Given the description of an element on the screen output the (x, y) to click on. 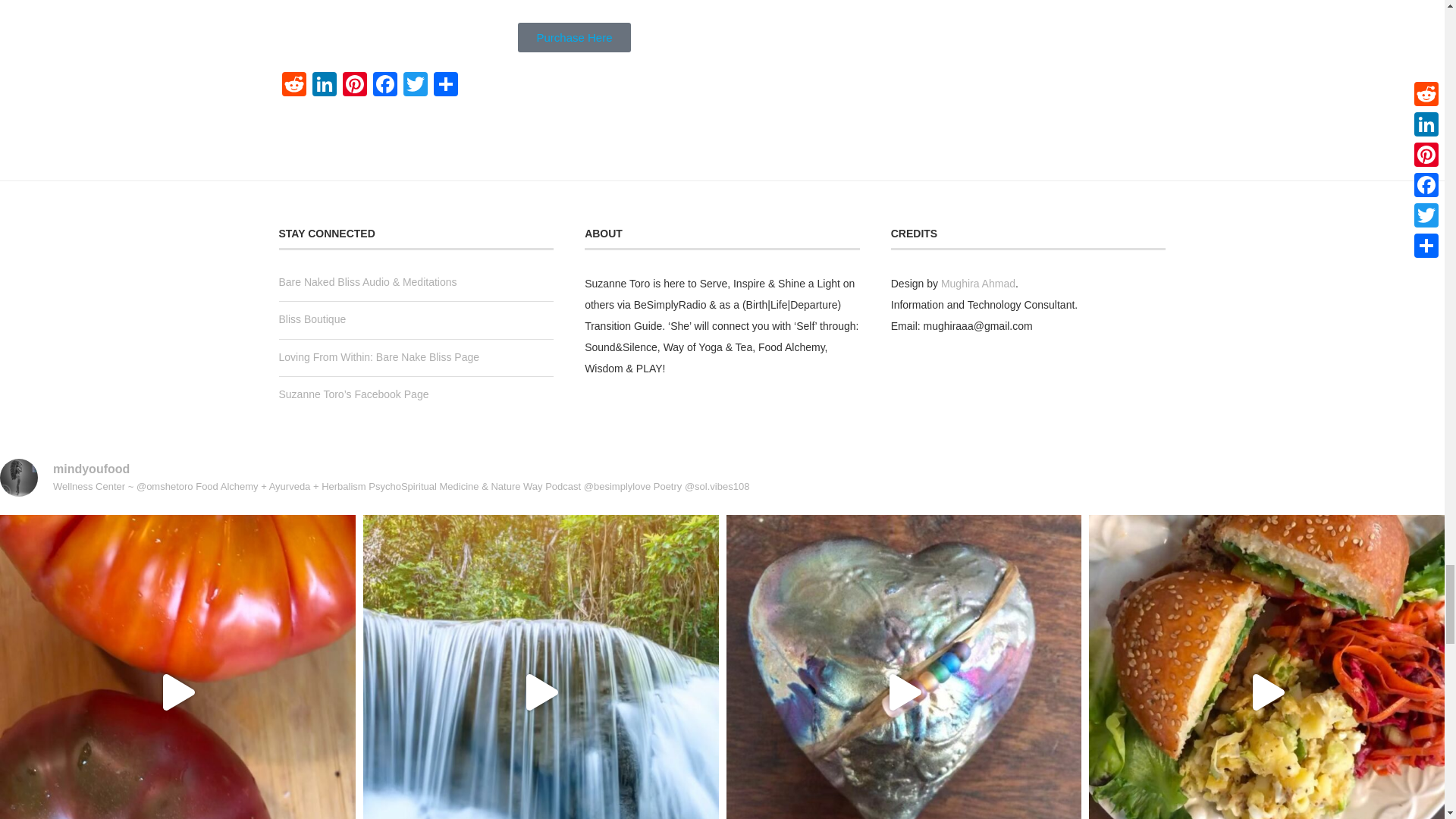
Reddit (293, 85)
Twitter (415, 85)
Pinterest (354, 85)
Gifts of Love, Products and Services to Support your Journey (312, 318)
Facebook (384, 85)
LinkedIn (323, 85)
